Given the description of an element on the screen output the (x, y) to click on. 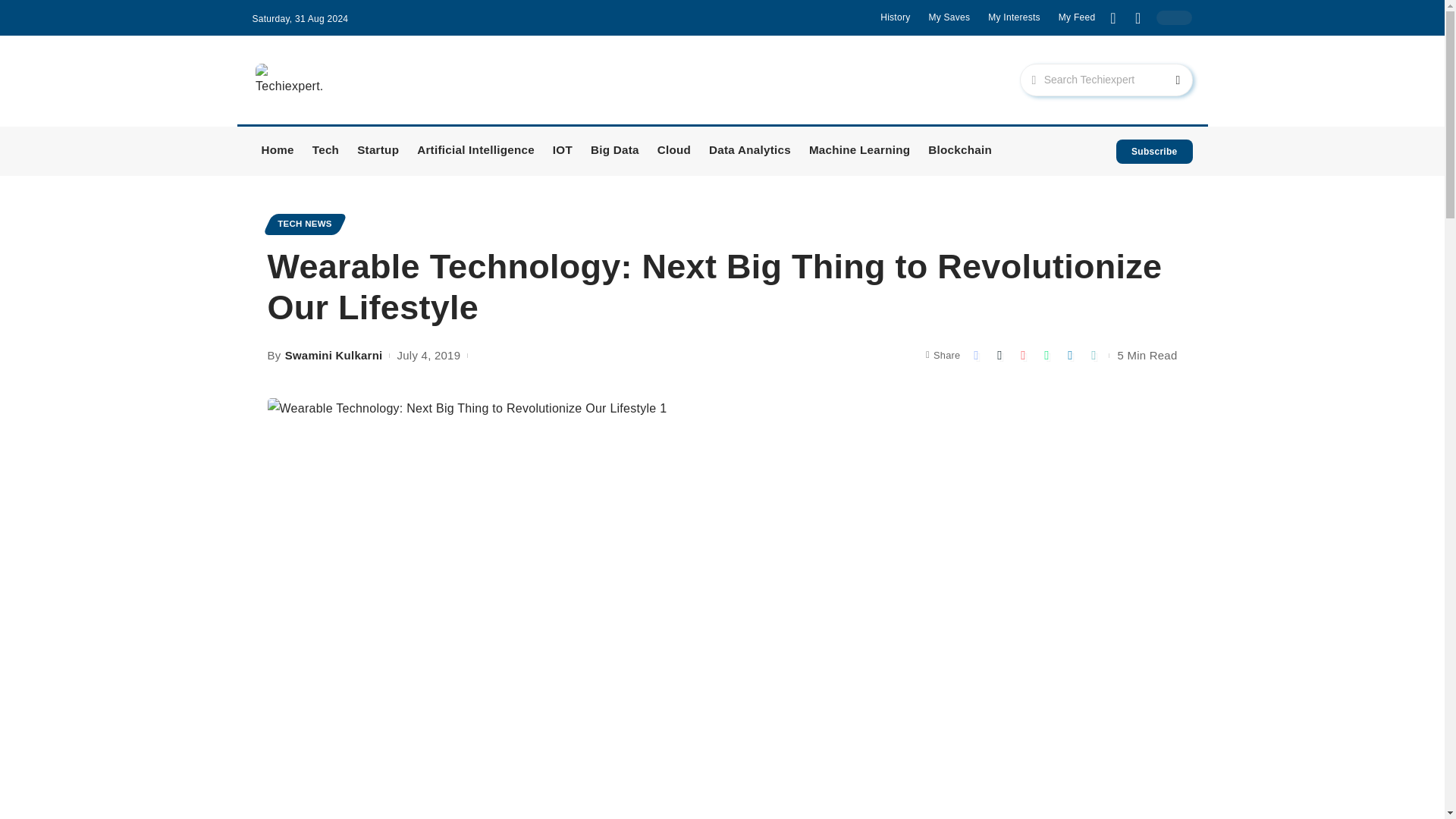
Home (276, 151)
Subscribe (1154, 151)
History (895, 17)
Tech (324, 151)
My Interests (1014, 17)
Blockchain (959, 151)
My Feed (1077, 17)
Big Data (613, 151)
Startup (377, 151)
IOT (561, 151)
